Given the description of an element on the screen output the (x, y) to click on. 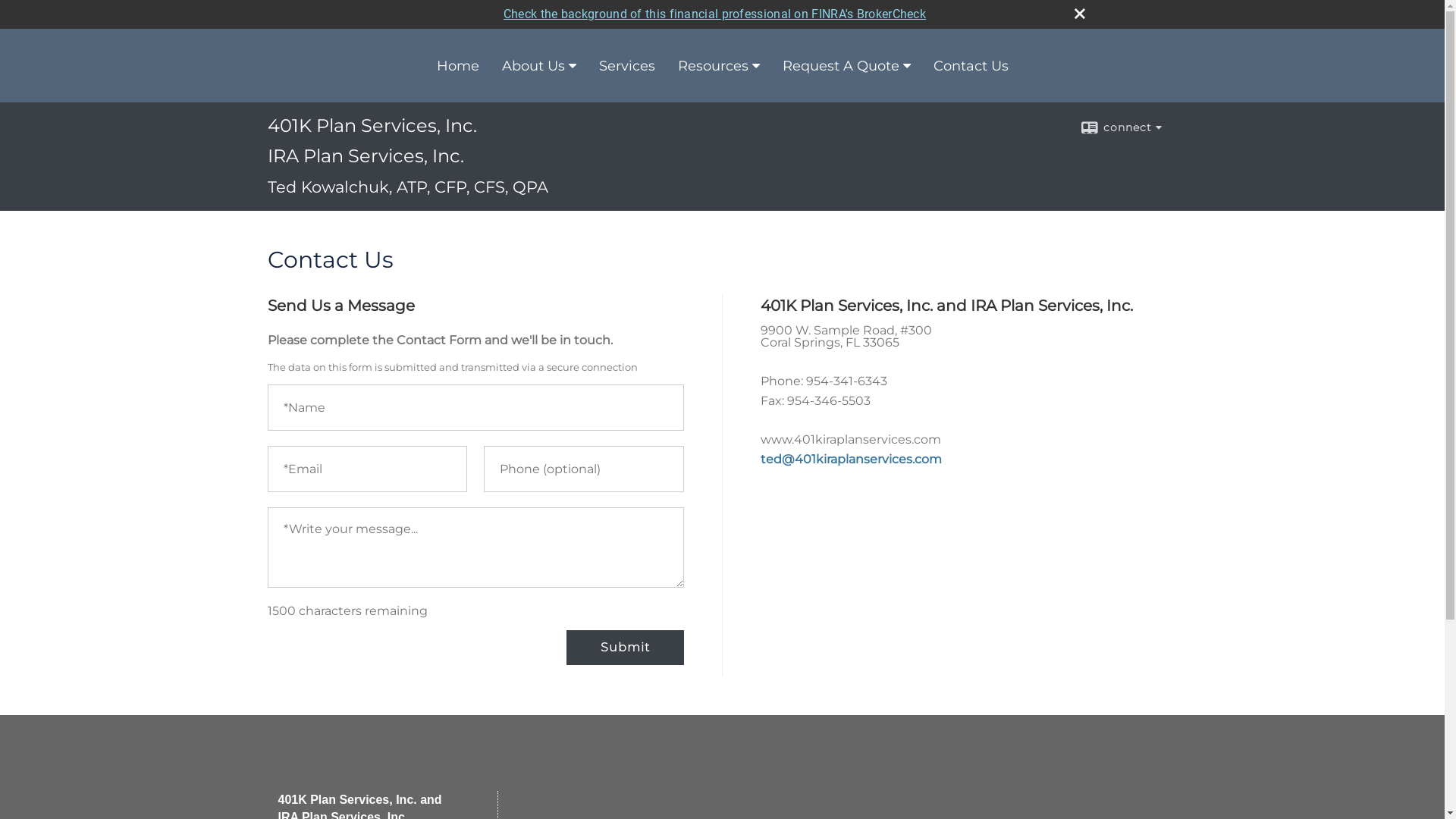
About Us Element type: text (537, 65)
Submit Element type: text (624, 647)
Resources Element type: text (717, 65)
Location Map Element type: hover (967, 573)
Home Element type: text (456, 65)
ted@401kiraplanservices.com Element type: text (850, 458)
Contact Us Element type: text (970, 65)
Services Element type: text (625, 65)
Request A Quote Element type: text (845, 65)
connect Element type: text (1120, 127)
